Given the description of an element on the screen output the (x, y) to click on. 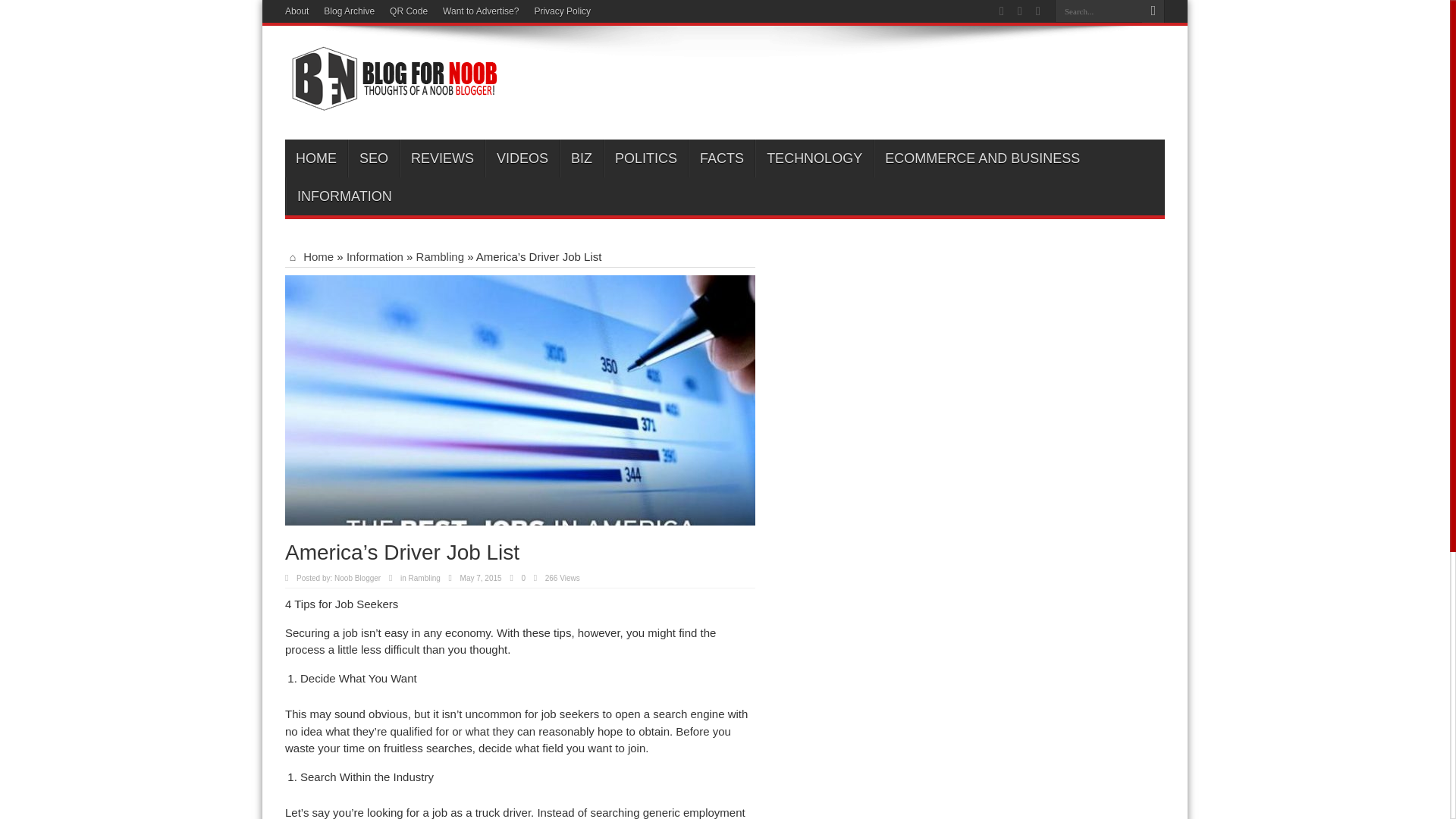
Blog Archive (348, 11)
TECHNOLOGY (813, 158)
Privacy Policy (562, 11)
POLITICS (645, 158)
FACTS (721, 158)
QR Code (409, 11)
Blog For Noob (391, 101)
BIZ (580, 158)
Want to Advertise? (480, 11)
VIDEOS (521, 158)
